Given the description of an element on the screen output the (x, y) to click on. 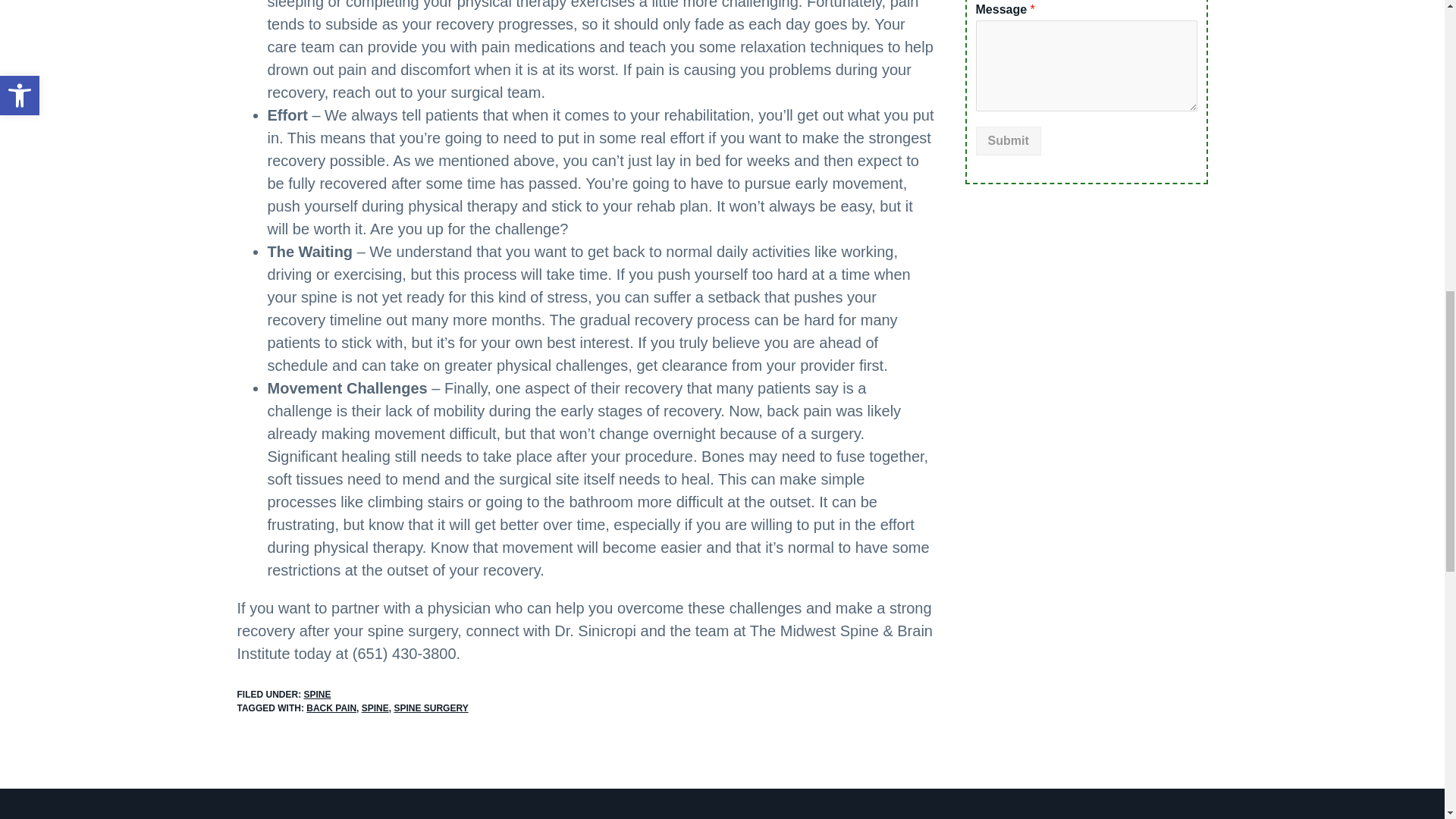
SPINE (316, 694)
BACK PAIN (330, 707)
SPINE (374, 707)
